Given the description of an element on the screen output the (x, y) to click on. 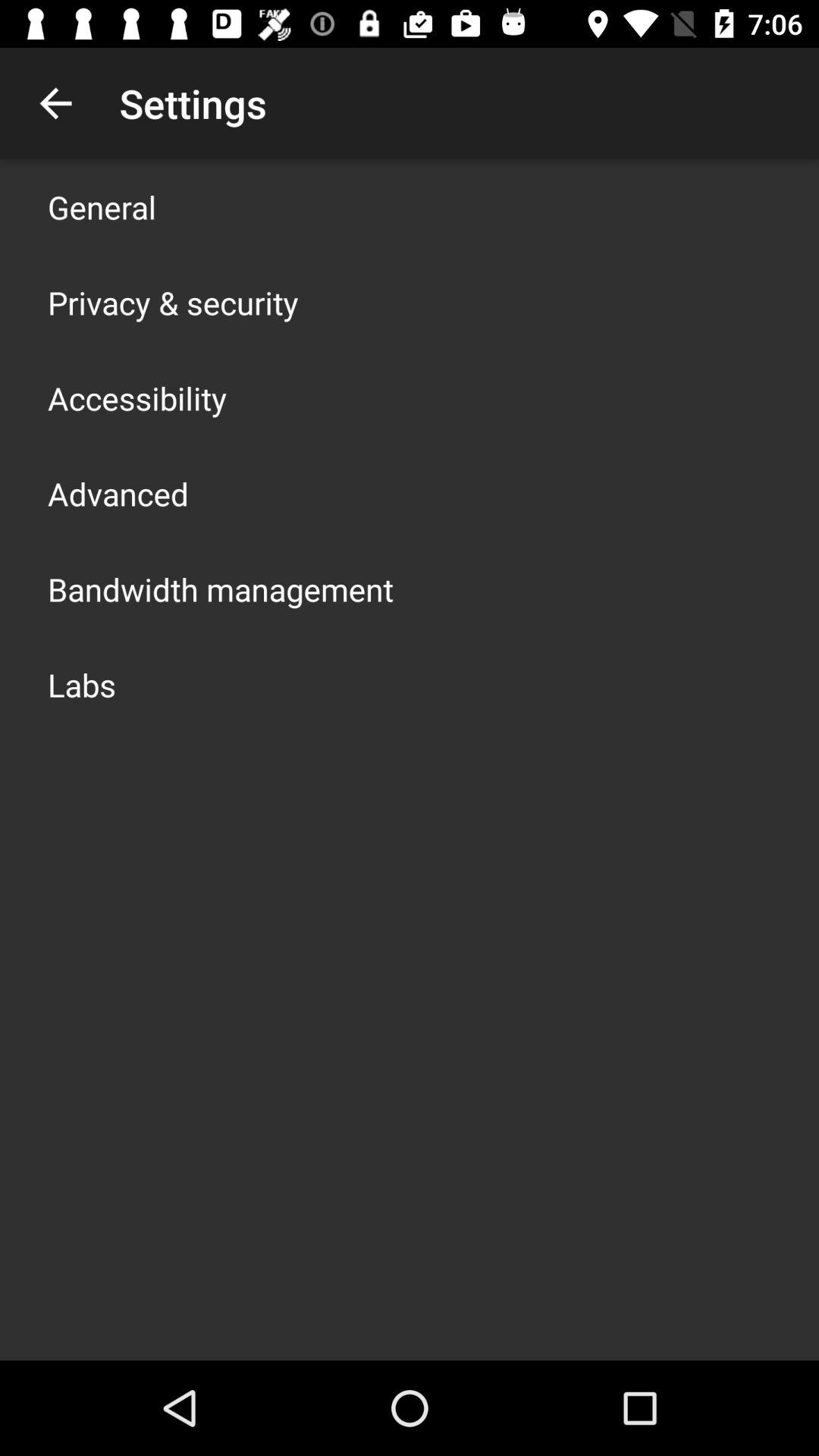
flip to accessibility (136, 397)
